Given the description of an element on the screen output the (x, y) to click on. 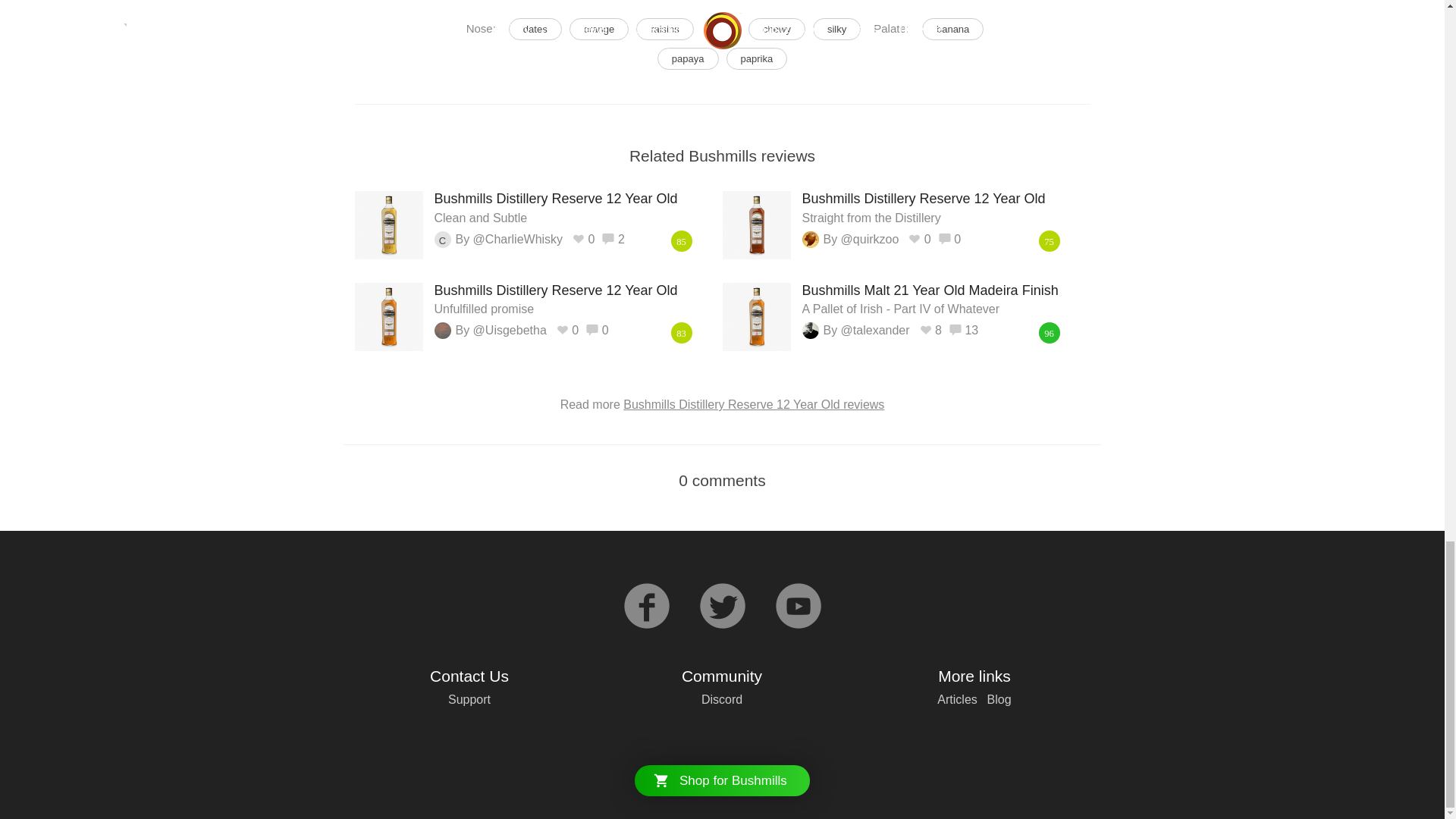
banana (952, 29)
banana (571, 207)
papaya (571, 299)
raisins (952, 29)
silky (688, 58)
orange (665, 29)
silky (836, 29)
papaya (598, 29)
chewy (836, 29)
dates (688, 58)
chewy (776, 29)
paprika (535, 29)
